Given the description of an element on the screen output the (x, y) to click on. 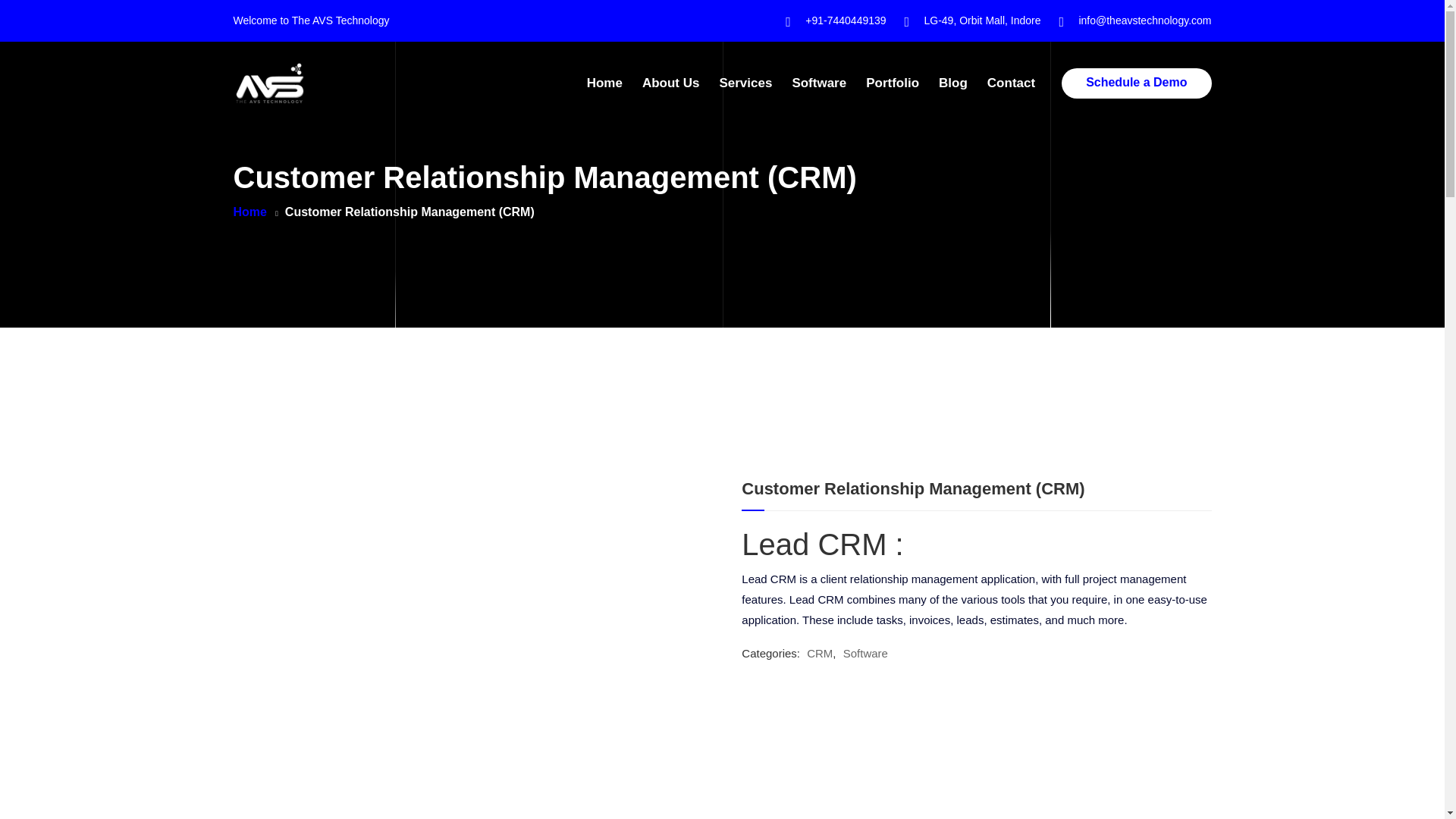
Software (865, 653)
Home (604, 83)
Software (818, 83)
Contact (1011, 83)
About Us (671, 83)
CRM (819, 653)
Blog (953, 83)
Blog (953, 83)
About Us (671, 83)
Portfolio (892, 83)
Contact (1011, 83)
Services (745, 83)
Home (604, 83)
Software (818, 83)
Portfolio (892, 83)
